Given the description of an element on the screen output the (x, y) to click on. 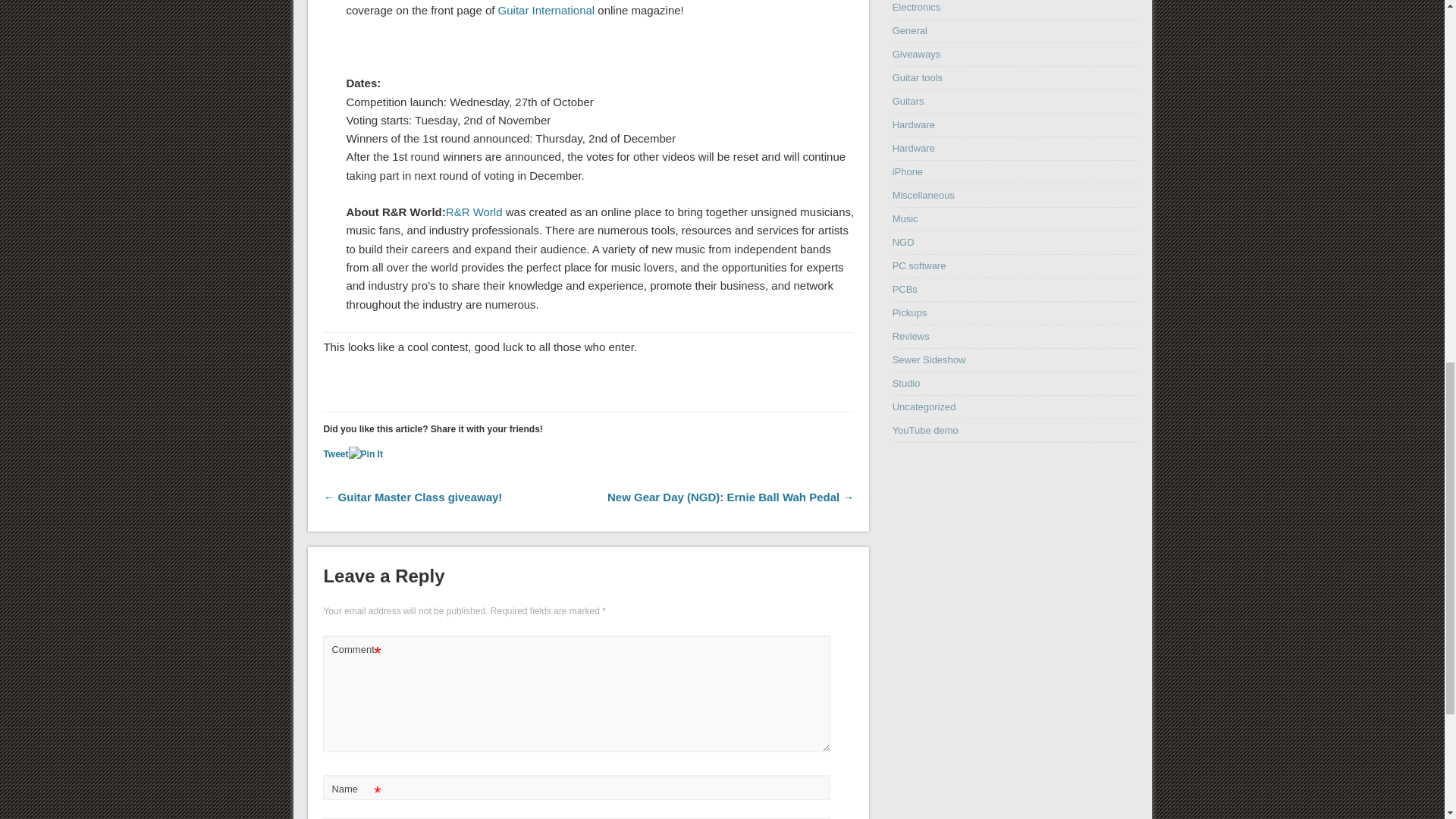
Tweet (335, 453)
Pin It (365, 454)
Guitar International (546, 10)
